Given the description of an element on the screen output the (x, y) to click on. 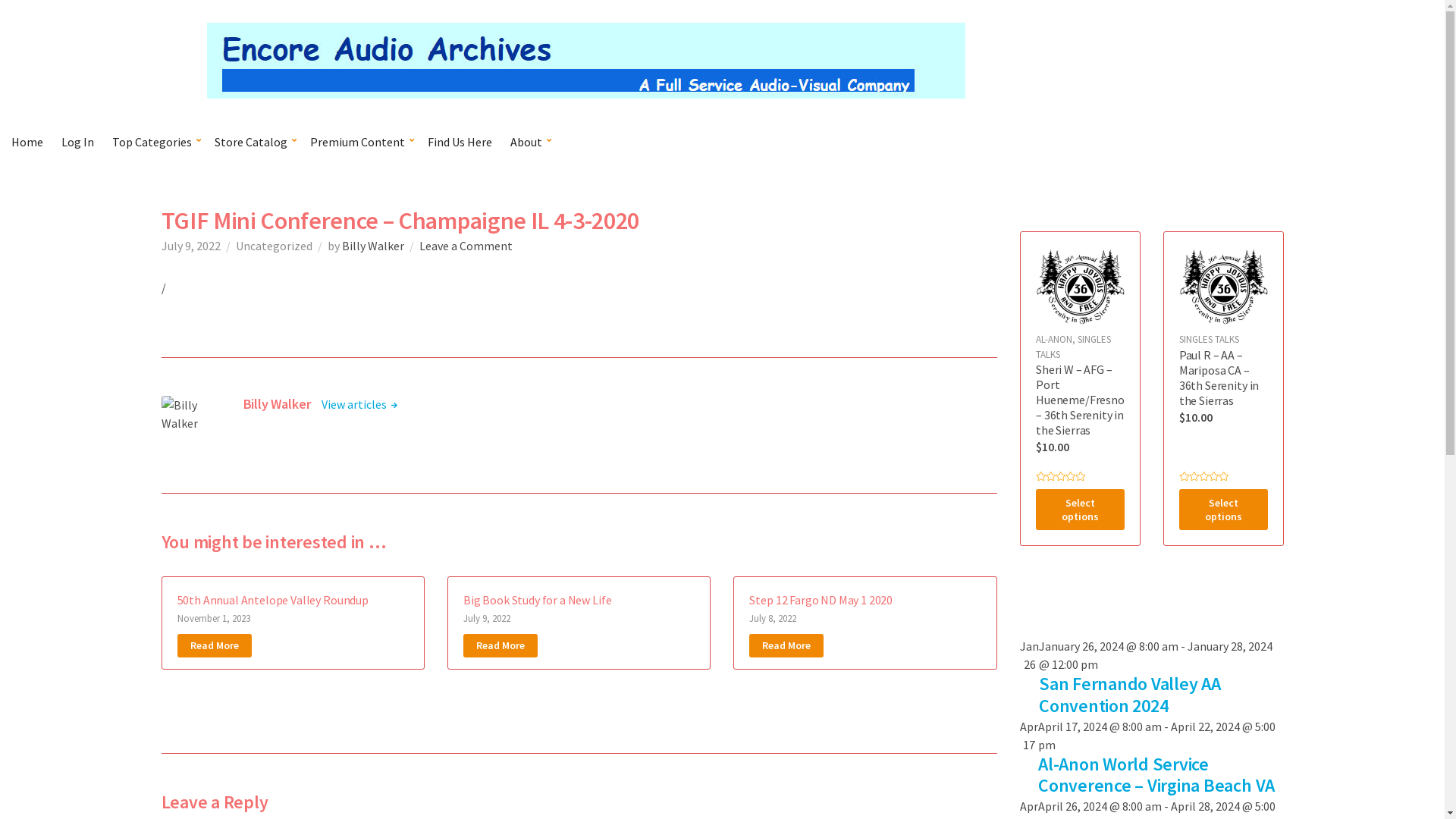
AL-ANON Element type: text (1053, 338)
Big Book Study for a New Life Element type: text (537, 599)
Log In Element type: text (77, 141)
Select options Element type: text (1223, 509)
Select options Element type: text (1079, 509)
Home Element type: text (27, 141)
Find Us Here Element type: text (459, 141)
Step 12 Fargo ND May 1 2020 Element type: text (820, 599)
About Element type: text (528, 141)
SINGLES TALKS Element type: text (1209, 338)
Top Categories Element type: text (154, 141)
50th Annual Antelope Valley Roundup Element type: text (272, 599)
SINGLES TALKS Element type: text (1072, 346)
Read More Element type: text (500, 645)
San Fernando Valley AA Convention 2024 Element type: text (1129, 694)
Read More Element type: text (214, 645)
Billy Walker Element type: text (372, 245)
Read More Element type: text (786, 645)
Store Catalog Element type: text (252, 141)
Premium Content Element type: text (359, 141)
View articles Element type: text (359, 403)
